Given the description of an element on the screen output the (x, y) to click on. 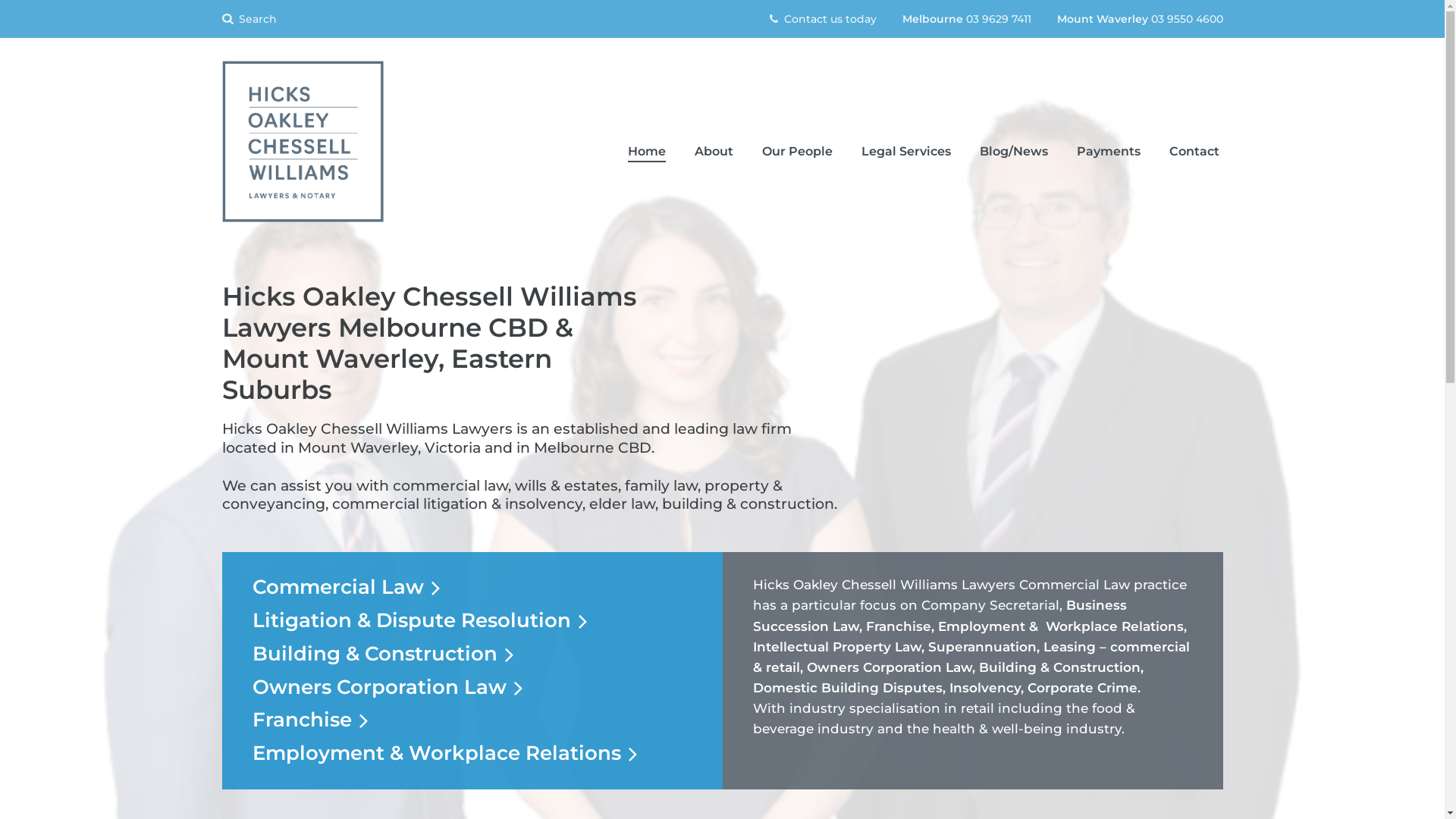
  Contact us today Element type: text (821, 18)
Domestic Building Disputes Element type: text (846, 687)
Owners Corporation Law Element type: text (386, 686)
Employment &  Workplace Relations Element type: text (1060, 625)
Business Succession Law Element type: text (939, 615)
Intellectual Property Law Element type: text (836, 646)
About Element type: text (712, 151)
Owners Corporation Law Element type: text (889, 666)
Franchise Element type: text (309, 719)
Home Element type: text (645, 151)
Litigation & Dispute Resolution Element type: text (418, 620)
03 9550 4600 Element type: text (1187, 18)
Blog/News Element type: text (1012, 151)
Payments Element type: text (1107, 151)
Our People Element type: text (797, 151)
Employment & Workplace Relations Element type: text (443, 752)
Legal Services Element type: text (905, 151)
Building & Construction Element type: text (1058, 666)
Superannuation Element type: text (982, 646)
Contact Element type: text (1193, 151)
Building & Construction Element type: text (381, 653)
Insolvency Element type: text (984, 687)
03 9629 7411 Element type: text (998, 18)
Commercial Law Element type: text (345, 586)
Franchise Element type: text (898, 625)
